Given the description of an element on the screen output the (x, y) to click on. 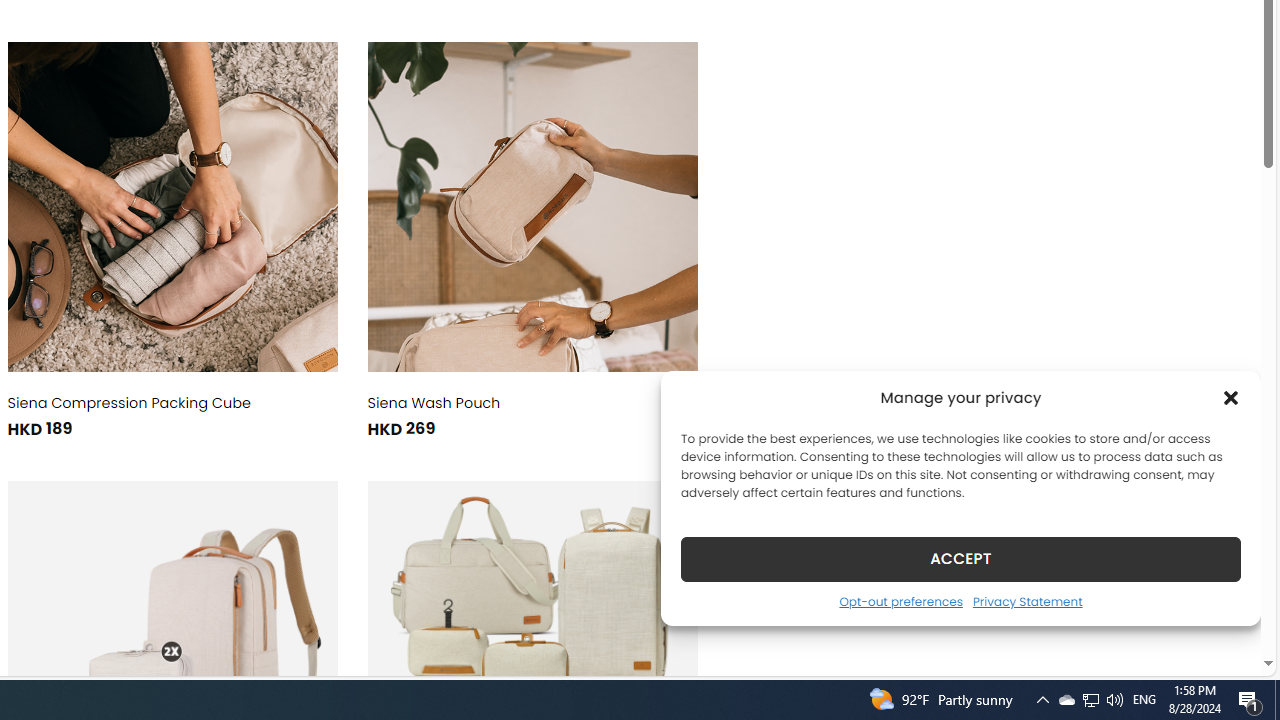
Privacy Statement (1026, 601)
Opt-out preferences (900, 601)
ACCEPT (960, 558)
Class: fill (532, 206)
Class: cmplz-close (1231, 397)
